Given the description of an element on the screen output the (x, y) to click on. 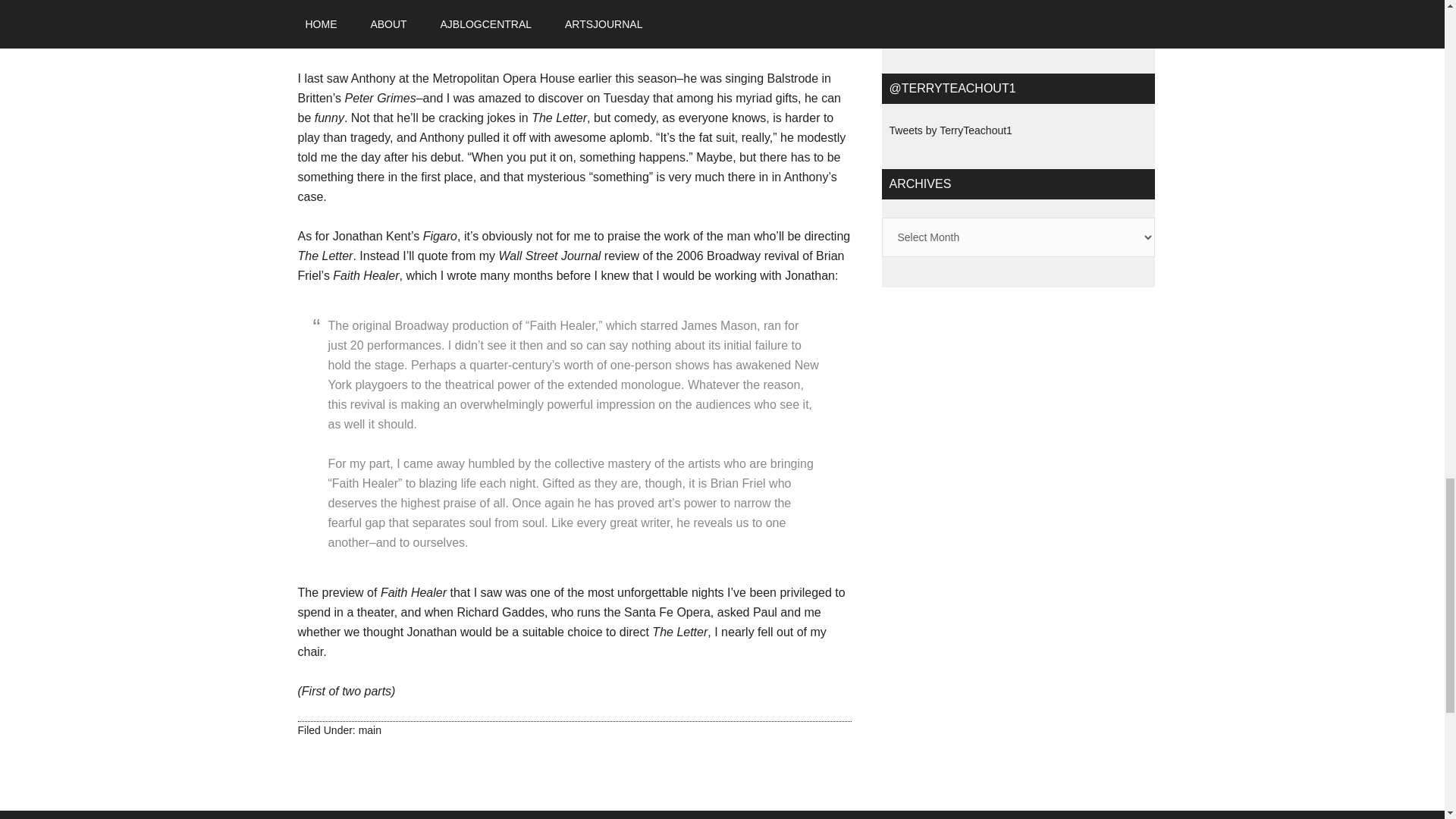
Follow Us on Twitter (960, 13)
Follow Us on RSS (1072, 13)
film version (549, 19)
Follow Us on E-mail (1013, 32)
main (369, 729)
